Given the description of an element on the screen output the (x, y) to click on. 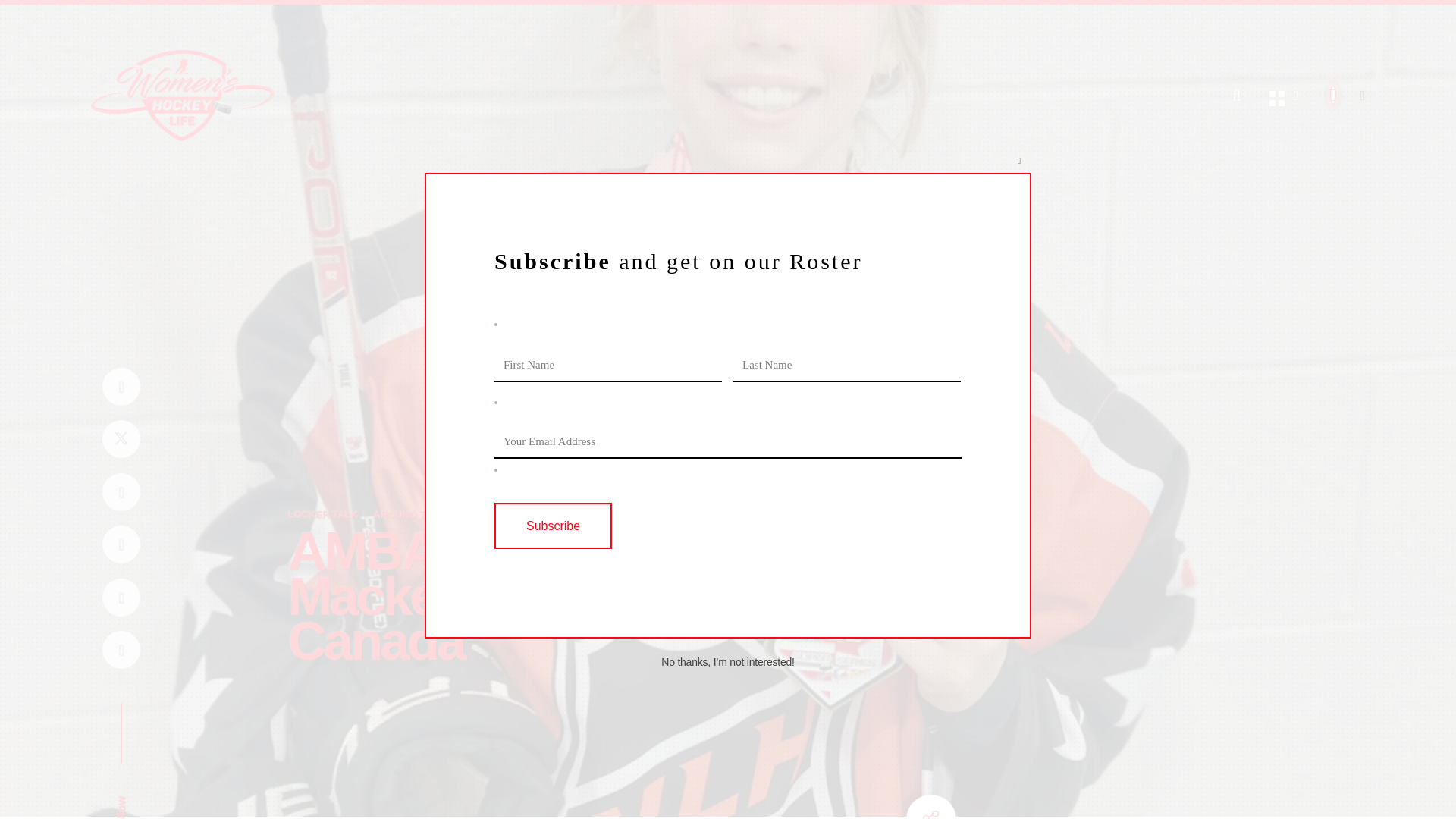
LOCKER TALK (323, 513)
Facebook (120, 385)
YouTube (120, 543)
Instagram (120, 491)
TikTok (120, 650)
Subscribe (553, 525)
Twitter (120, 438)
LinkedIn (120, 596)
AROUND THE RINK (419, 513)
